Given the description of an element on the screen output the (x, y) to click on. 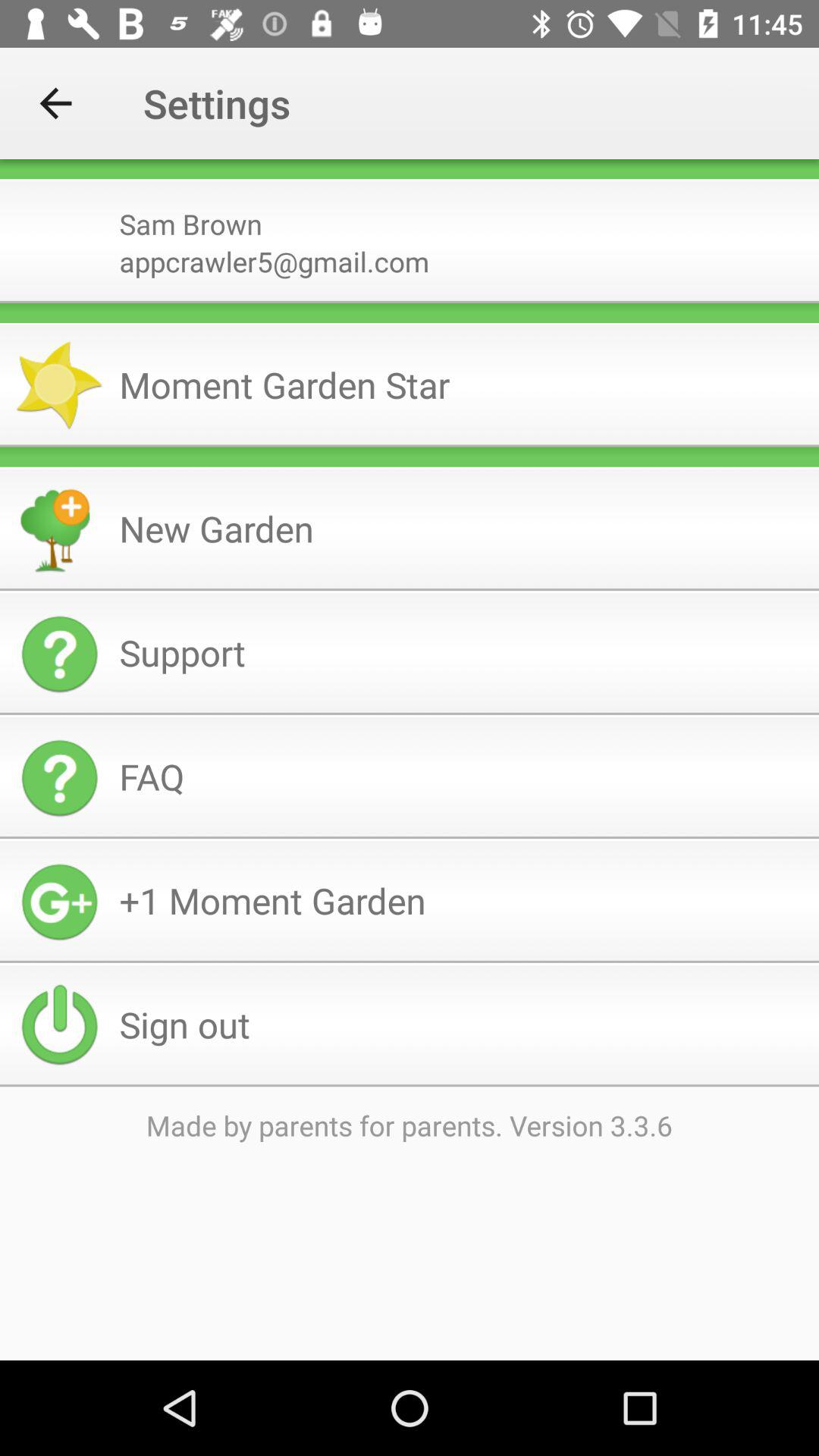
click the icon below the     icon (409, 467)
